Given the description of an element on the screen output the (x, y) to click on. 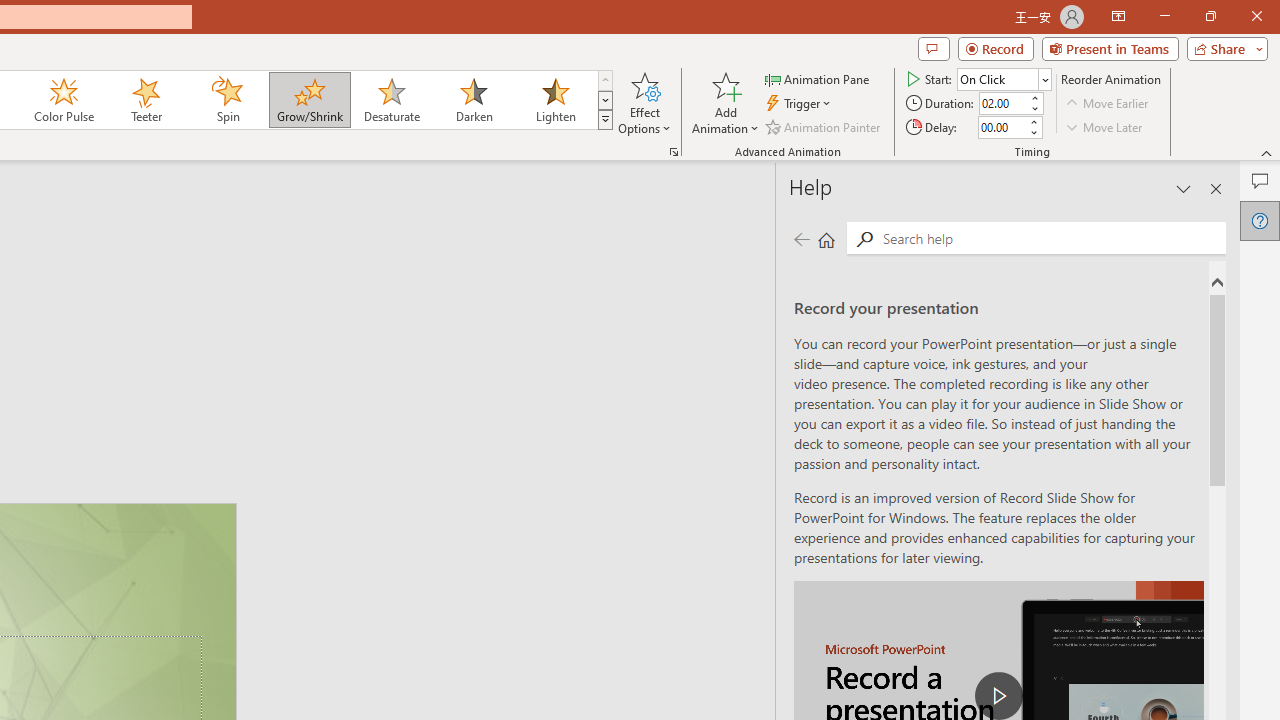
Desaturate (391, 100)
More Options... (673, 151)
Darken (473, 100)
Animation Pane (818, 78)
Effect Options (644, 102)
Previous page (801, 238)
Grow/Shrink (309, 100)
